Given the description of an element on the screen output the (x, y) to click on. 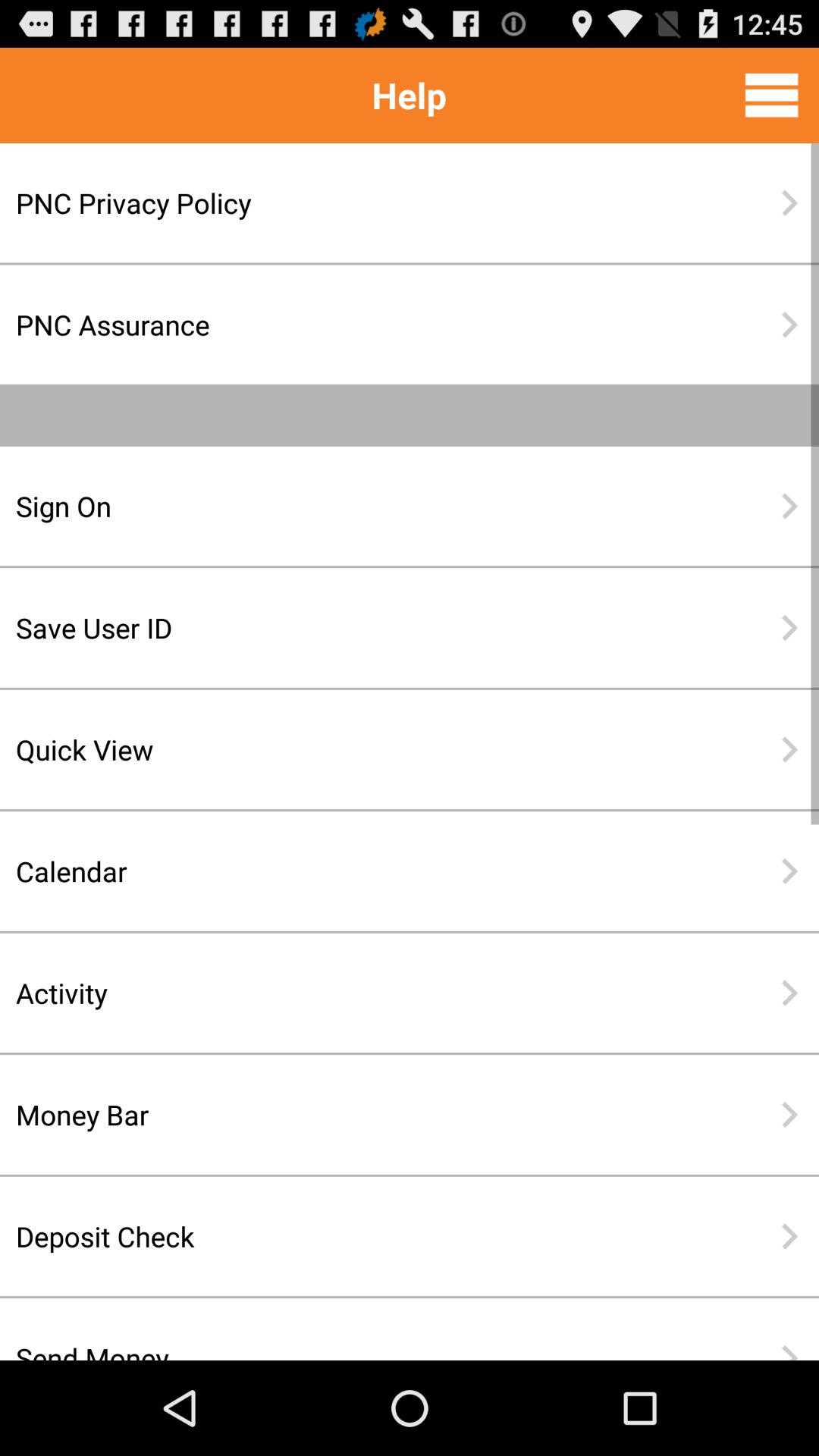
click on the second next button (789, 324)
click on the eight arrow from top (789, 1114)
